Given the description of an element on the screen output the (x, y) to click on. 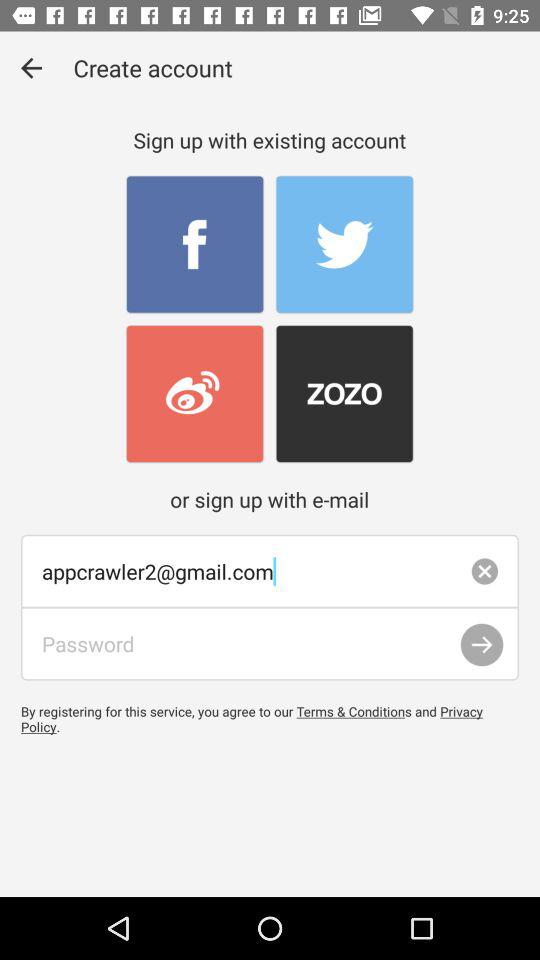
scroll until the appcrawler2@gmail.com (270, 571)
